Given the description of an element on the screen output the (x, y) to click on. 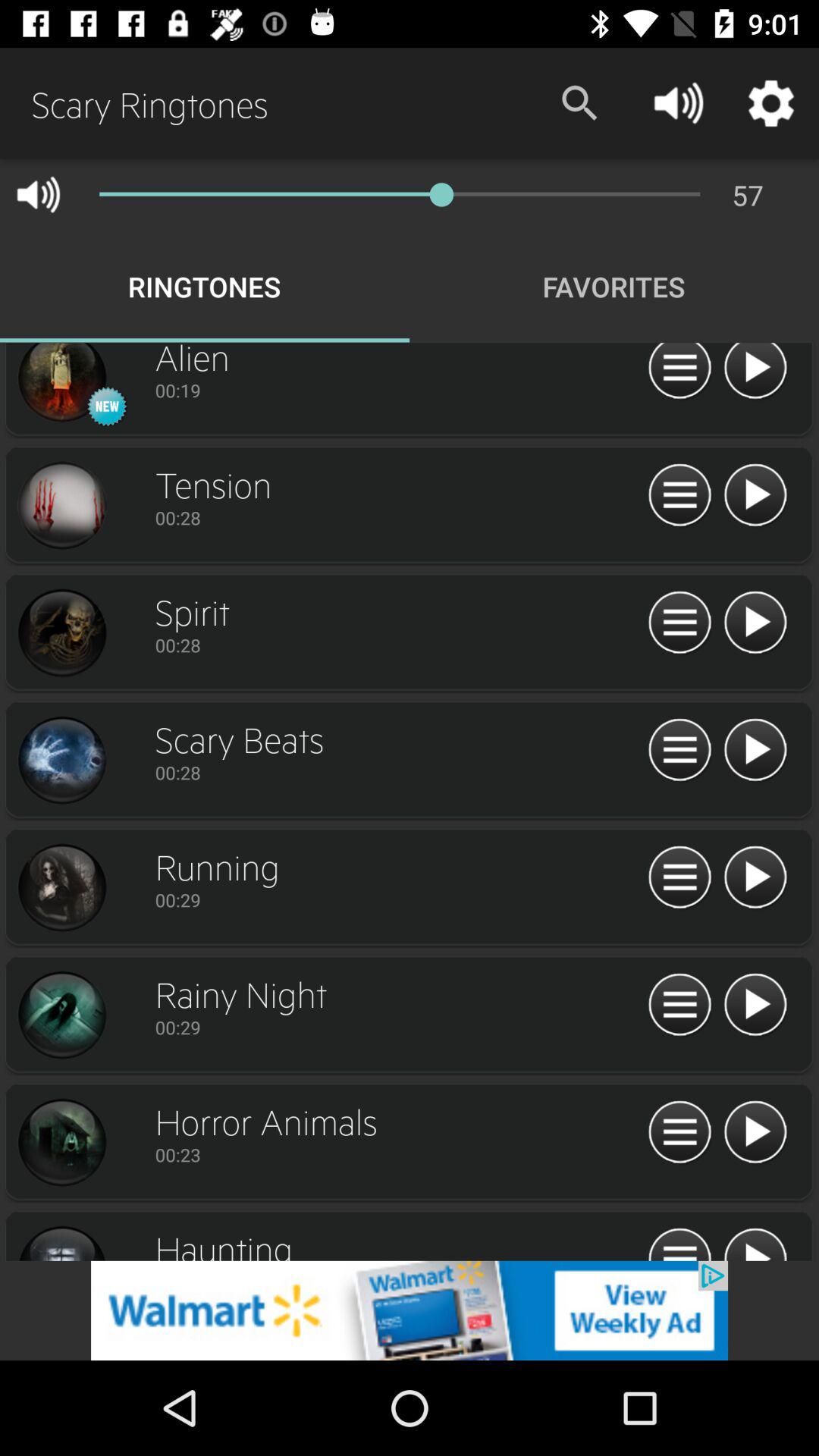
go to website advertisement (409, 1310)
